Given the description of an element on the screen output the (x, y) to click on. 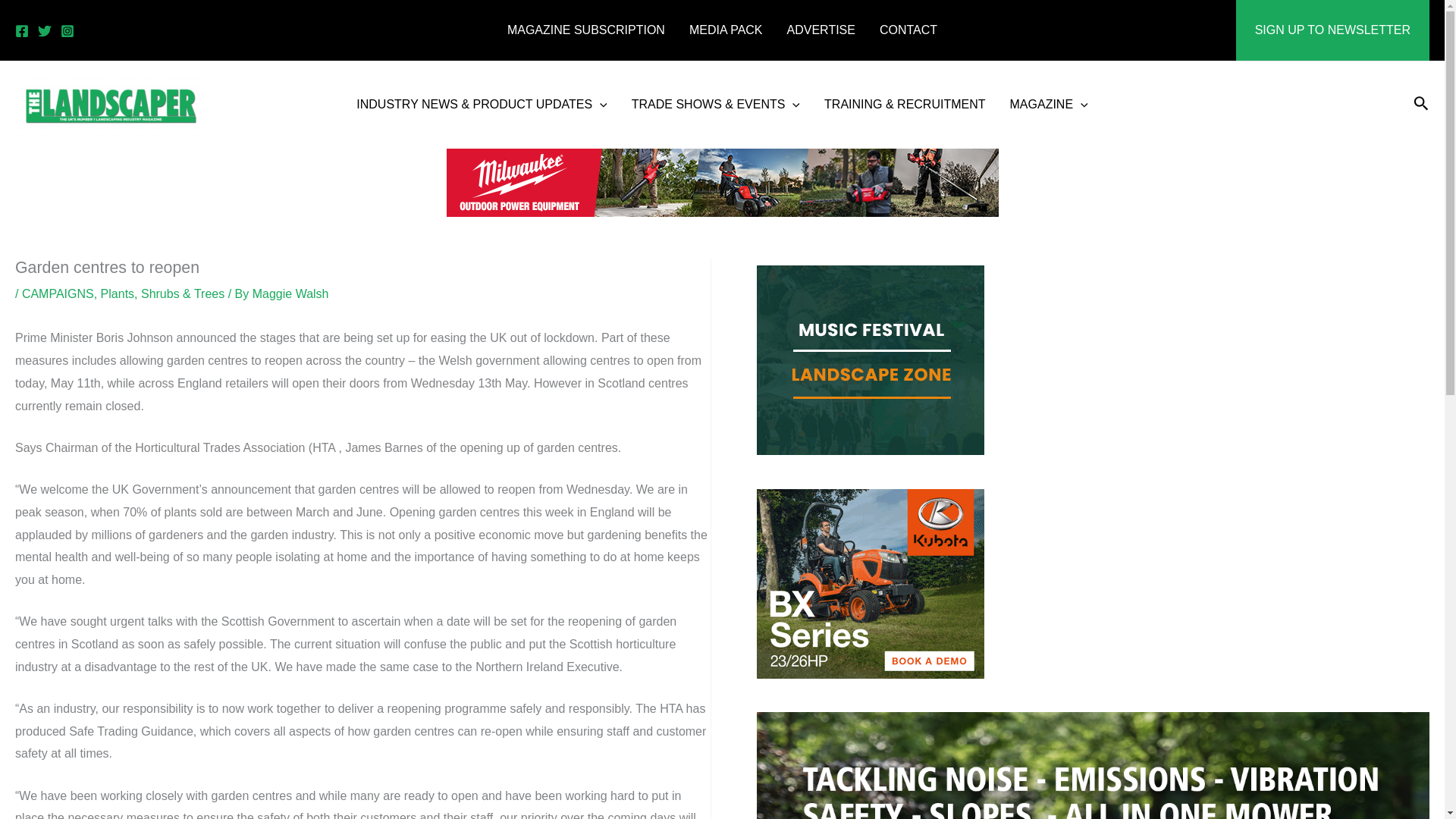
ADVERTISE (820, 30)
MAGAZINE SUBSCRIPTION (586, 30)
MEDIA PACK (725, 30)
MAGAZINE (1048, 104)
SIGN UP TO NEWSLETTER (1332, 30)
CONTACT (908, 30)
View all posts by Maggie Walsh (290, 293)
